Given the description of an element on the screen output the (x, y) to click on. 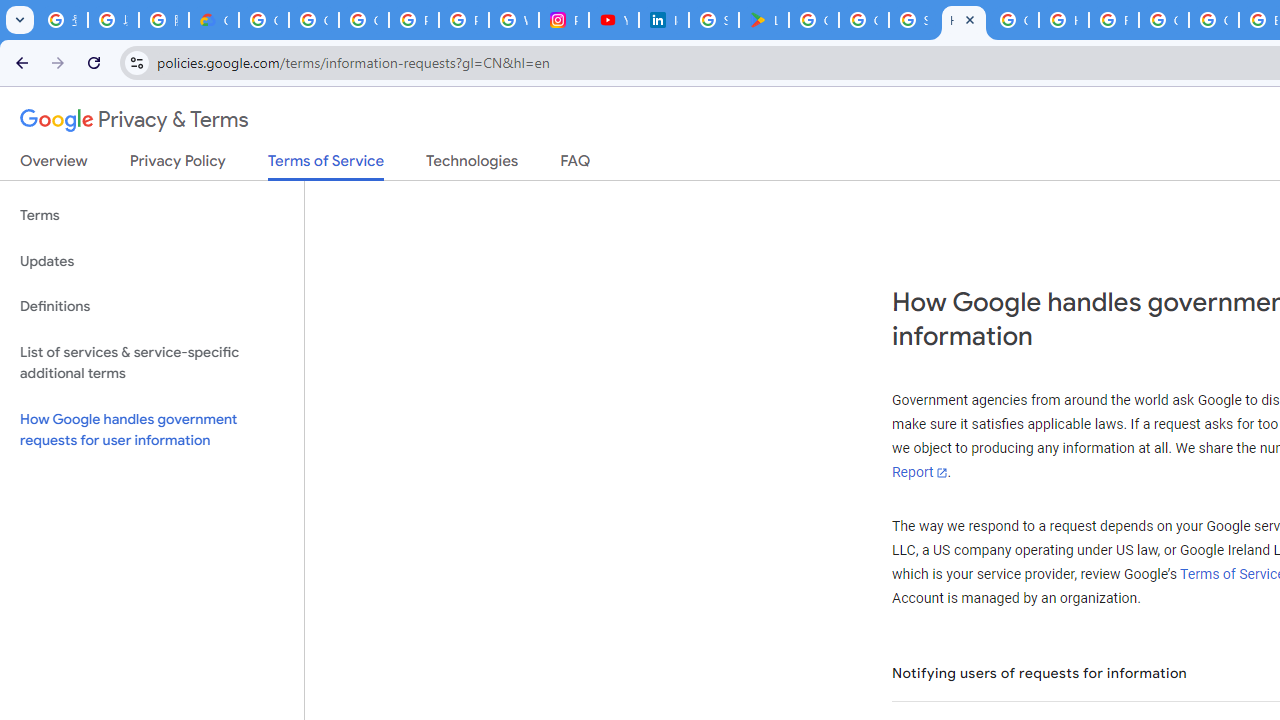
Privacy Help Center - Policies Help (414, 20)
Privacy Help Center - Policies Help (463, 20)
Sign in - Google Accounts (713, 20)
